Given the description of an element on the screen output the (x, y) to click on. 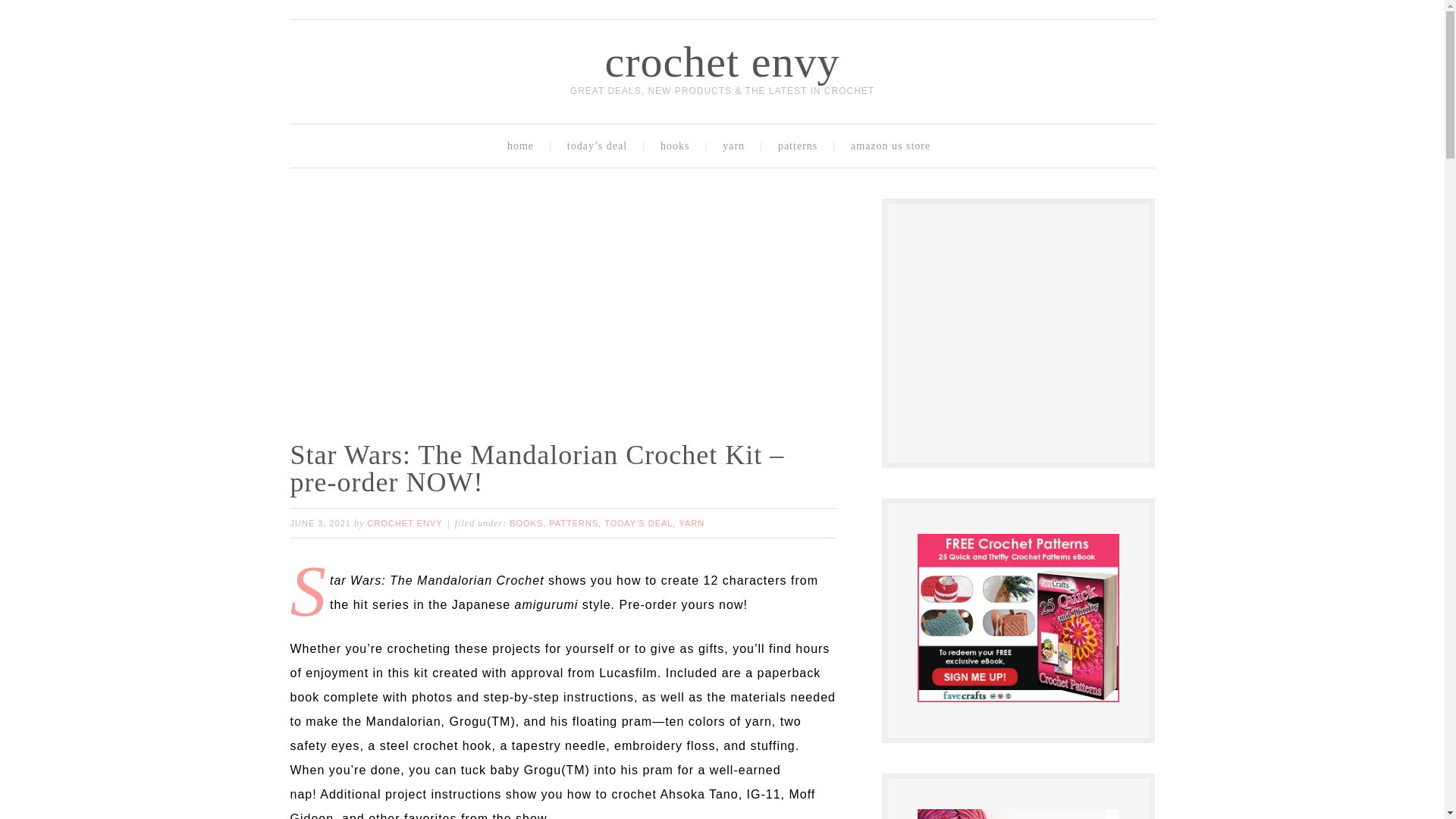
Advertisement (569, 305)
yarn (736, 145)
CROCHET ENVY (404, 522)
hooks (678, 145)
crochet envy (722, 61)
Advertisement (1030, 329)
home (523, 145)
YARN (691, 522)
amazon us store (894, 145)
PATTERNS (573, 522)
TODAY'S DEAL (638, 522)
patterns (801, 145)
BOOKS (526, 522)
